Given the description of an element on the screen output the (x, y) to click on. 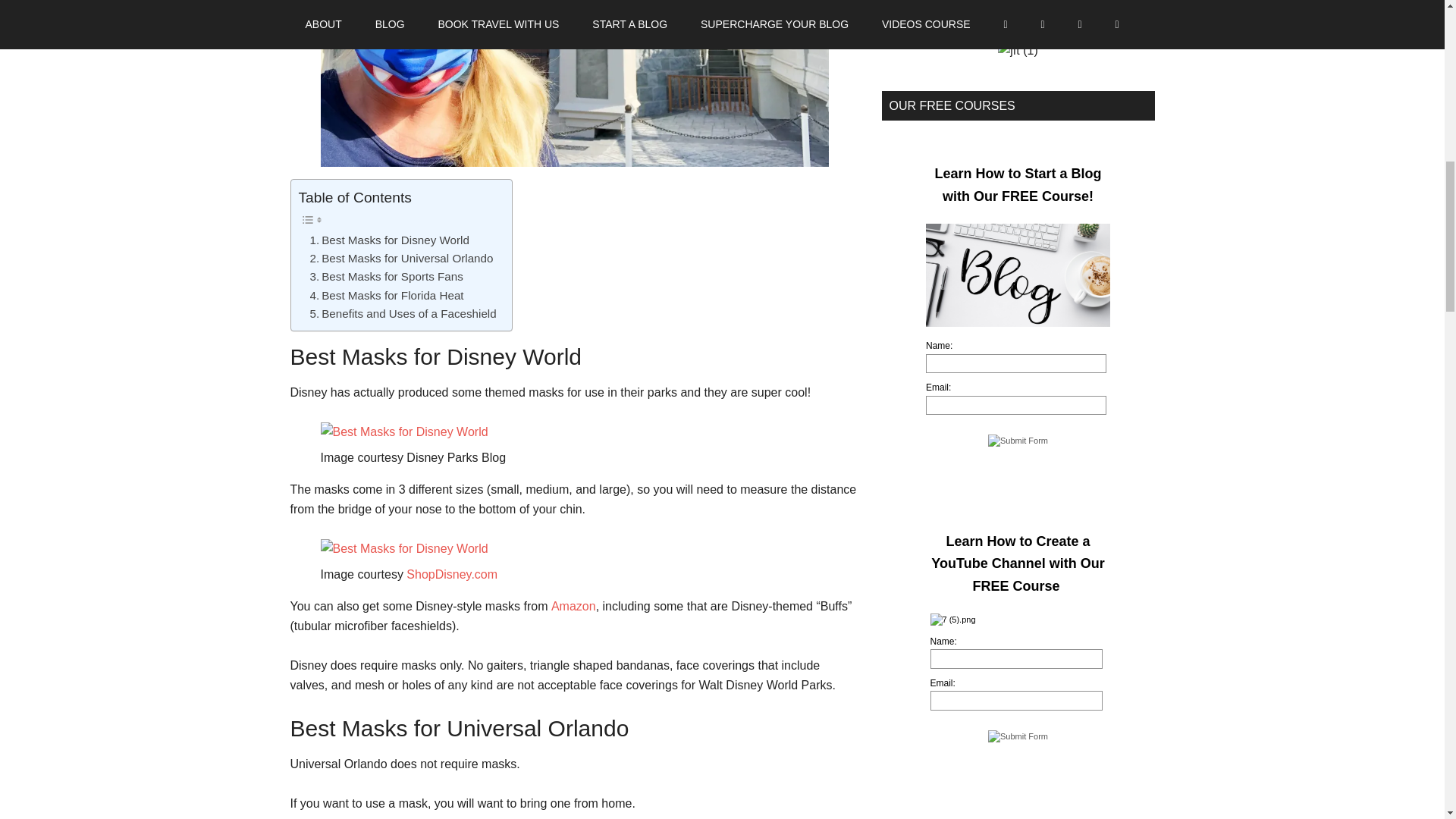
Best Masks for Florida Heat (385, 295)
Best Masks for Disney World (388, 239)
Best Masks for Universal Orlando (400, 258)
Best Masks for Sports Fans (385, 276)
Benefits and Uses of a Faceshield (402, 313)
Best Masks for Universal Orlando (400, 258)
Best Masks for Disney World (388, 239)
